Given the description of an element on the screen output the (x, y) to click on. 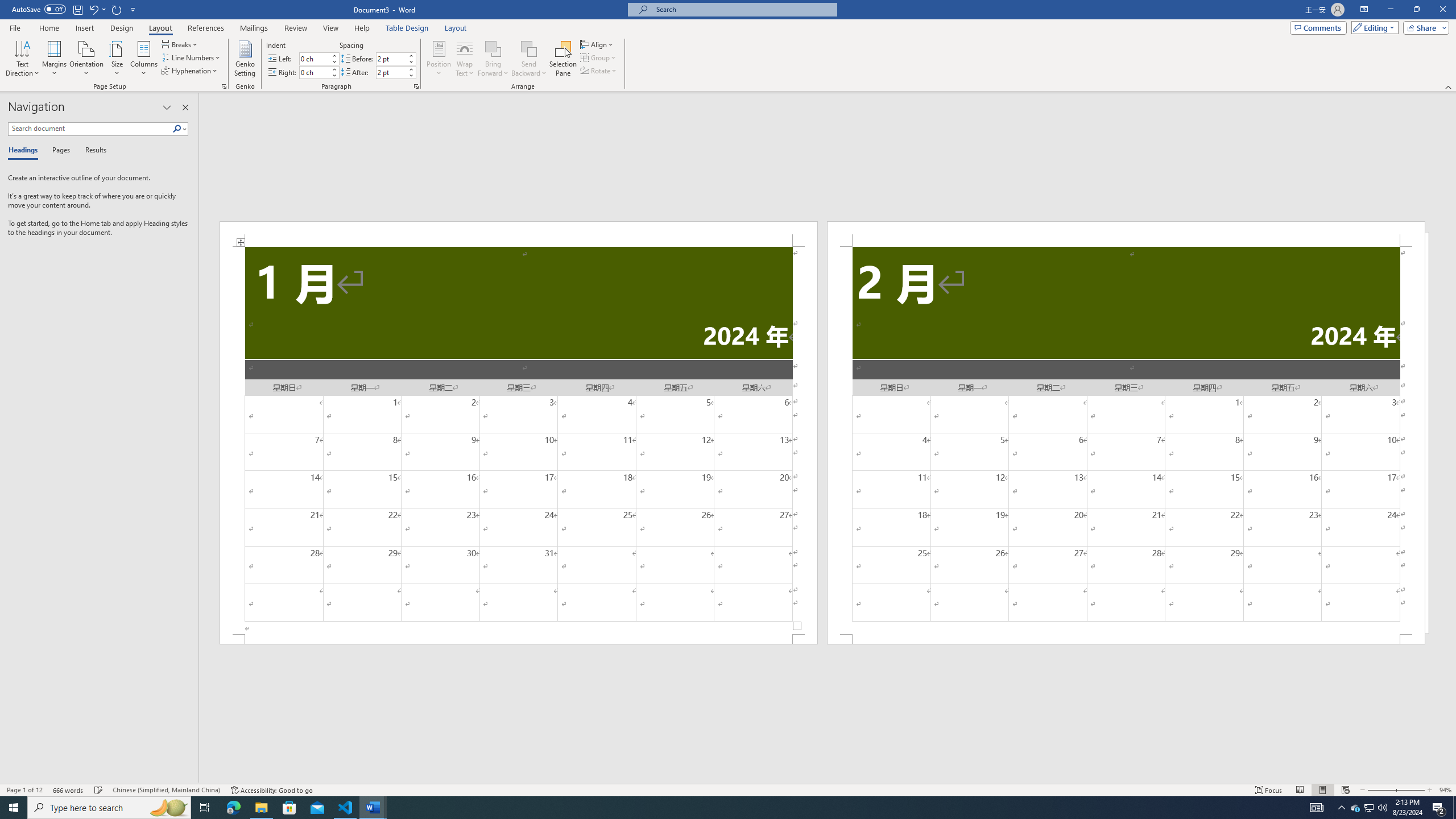
Genko Setting... (244, 58)
Class: NetUIScrollBar (827, 778)
Pages (59, 150)
Headings (25, 150)
Hyphenation (189, 69)
